Given the description of an element on the screen output the (x, y) to click on. 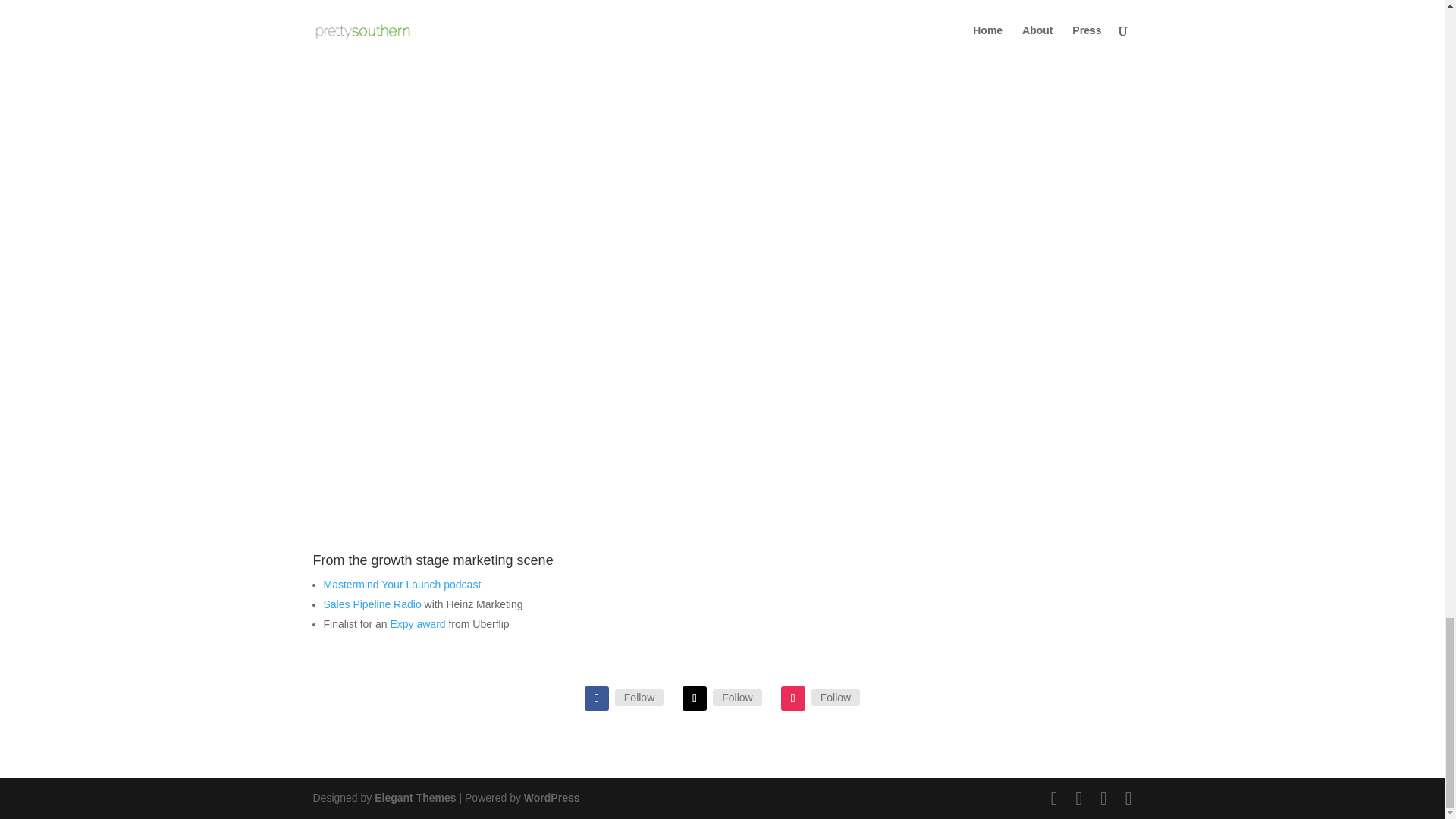
WordPress (551, 797)
Instagram (835, 697)
Expy award (417, 623)
Facebook (638, 697)
Follow (835, 697)
Follow on Instagram (792, 698)
X (737, 697)
Follow (638, 697)
Follow (737, 697)
Mastermind Your Launch podcast (401, 584)
Sales Pipeline Radio (371, 604)
Premium WordPress Themes (414, 797)
Follow on X (694, 698)
Elegant Themes (414, 797)
Follow on Facebook (596, 698)
